Given the description of an element on the screen output the (x, y) to click on. 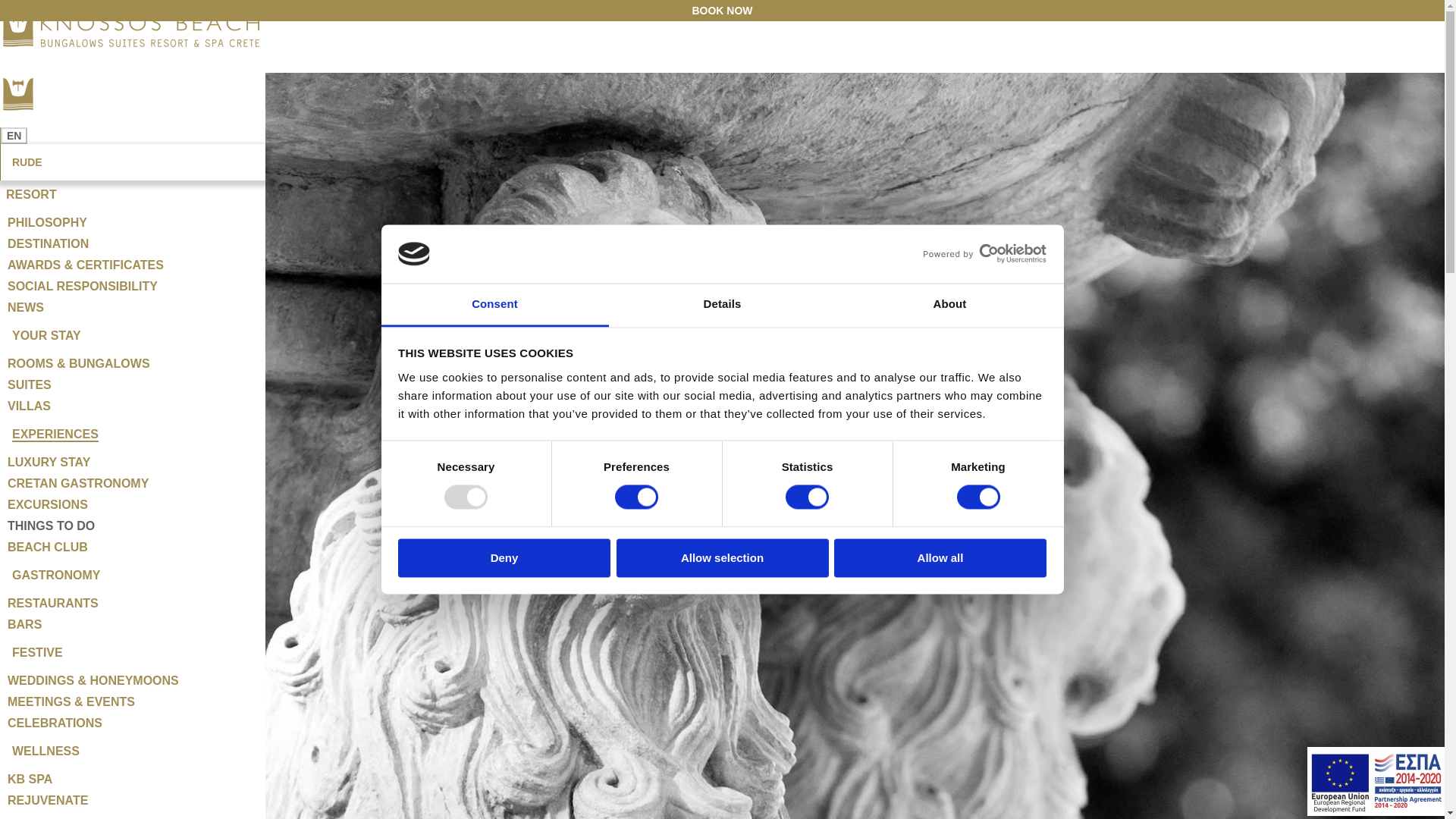
Allow all (940, 557)
Deny (503, 557)
BOOK NOW (721, 10)
EN (14, 135)
Consent (494, 304)
About (948, 304)
Allow selection (721, 557)
Details (721, 304)
